Given the description of an element on the screen output the (x, y) to click on. 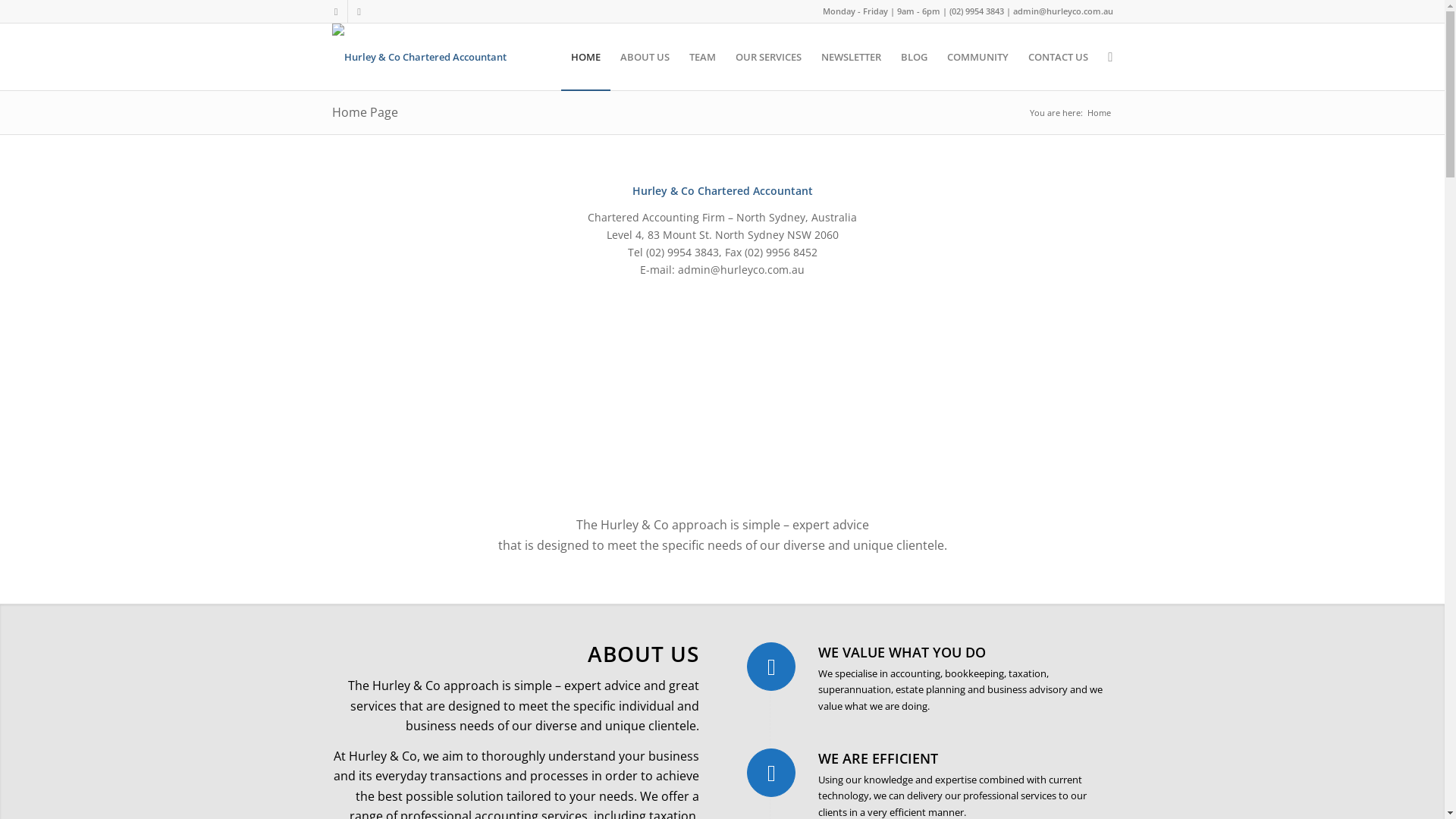
Home Page Element type: text (365, 111)
NEWSLETTER Element type: text (851, 56)
Linkedin Element type: hover (358, 11)
COMMUNITY Element type: text (977, 56)
HOME Element type: text (585, 56)
Facebook Element type: hover (335, 11)
ABOUT US Element type: text (644, 56)
OUR SERVICES Element type: text (768, 56)
BLOG Element type: text (914, 56)
CONTACT US Element type: text (1058, 56)
TEAM Element type: text (702, 56)
